Given the description of an element on the screen output the (x, y) to click on. 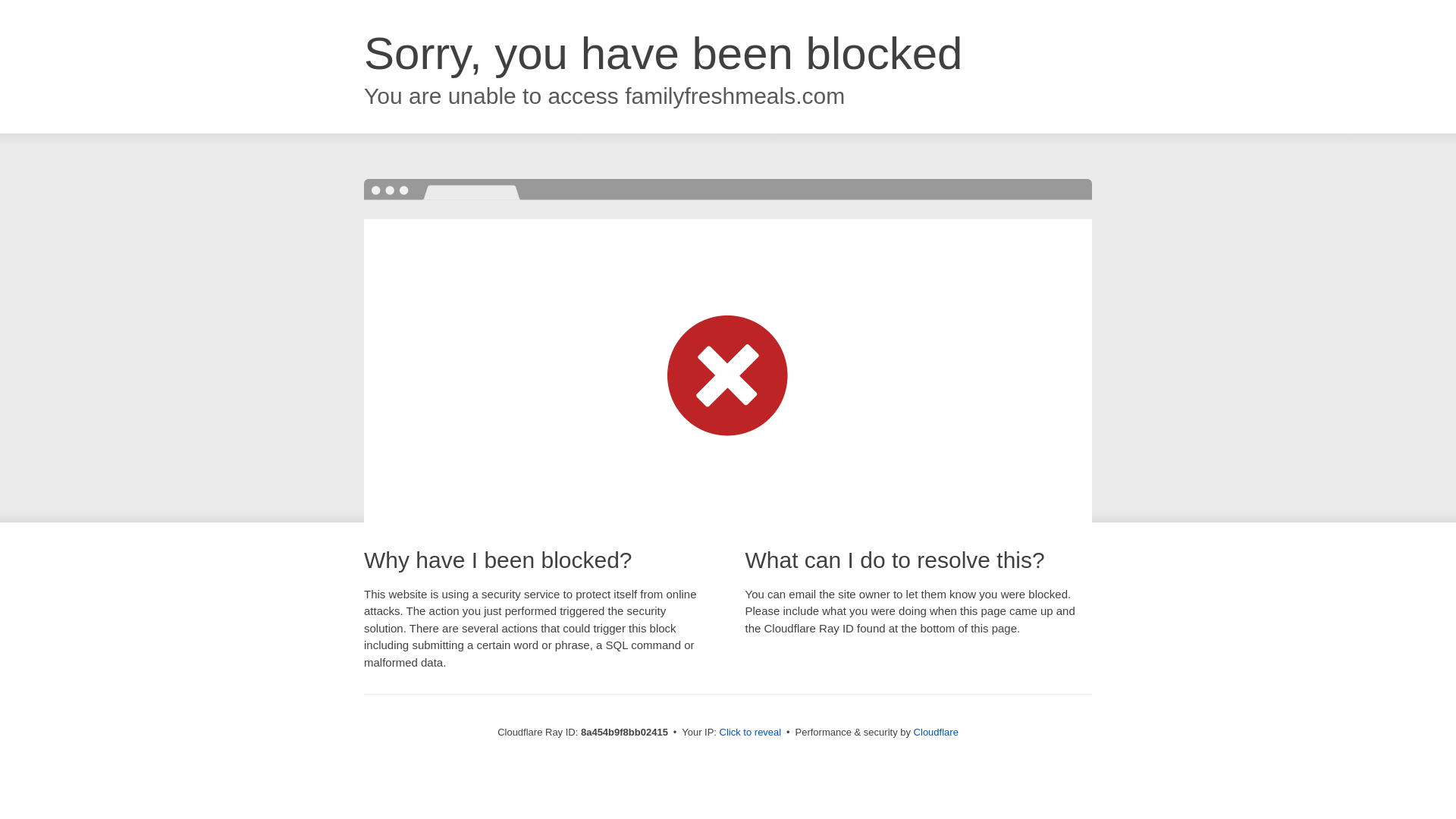
Click to reveal (750, 732)
Cloudflare (936, 731)
